Given the description of an element on the screen output the (x, y) to click on. 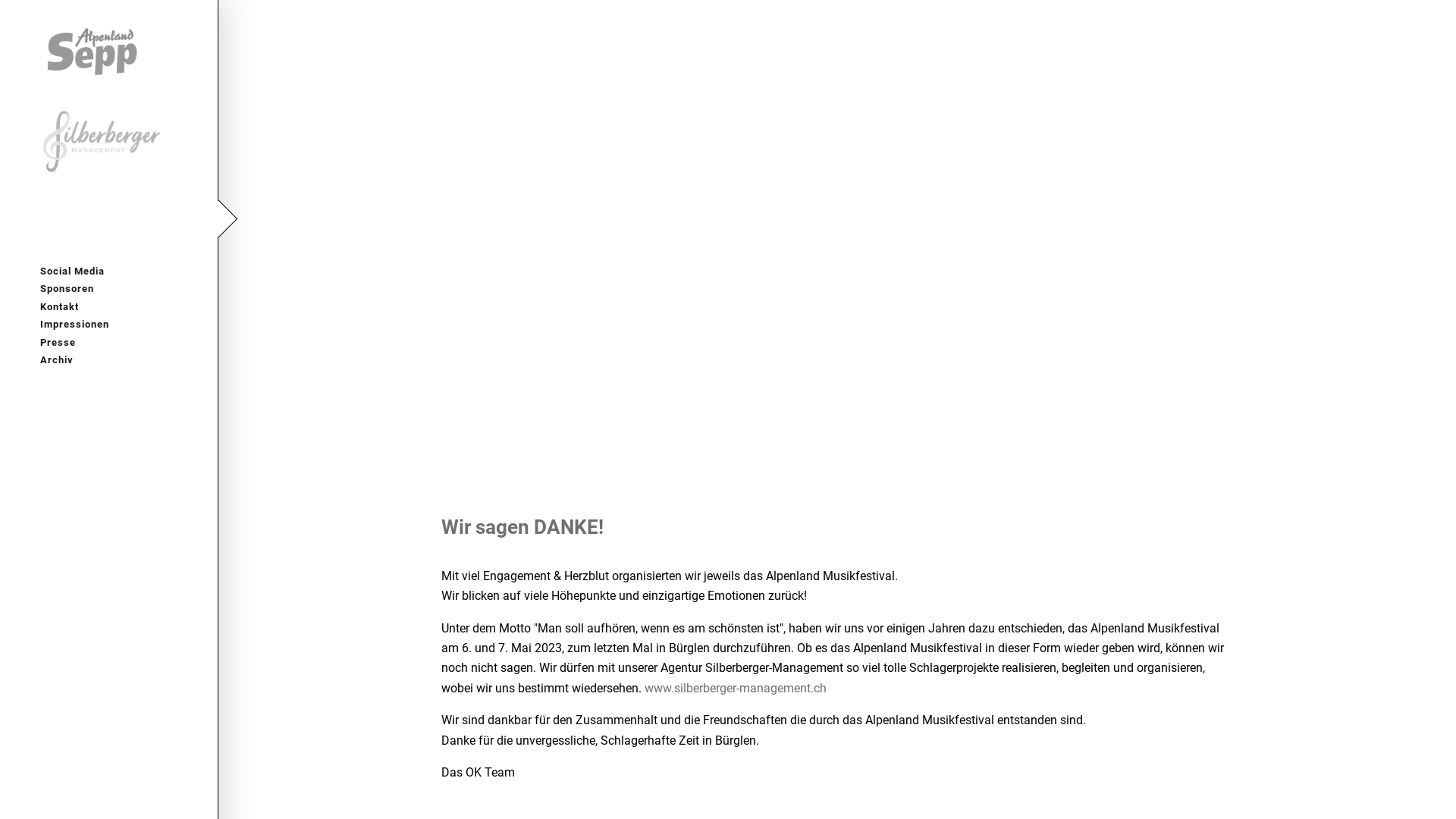
Alpenland Sepp Element type: hover (103, 49)
www.silberberger-management.ch Element type: text (735, 687)
Social Media Element type: text (109, 270)
Kontakt Element type: text (109, 306)
Silberberger Management Element type: hover (103, 140)
Sponsoren Element type: text (109, 288)
Archiv Element type: text (109, 359)
Alpenland Musikfestival Element type: hover (103, 222)
Impressionen Element type: text (109, 323)
Presse Element type: text (109, 342)
